Given the description of an element on the screen output the (x, y) to click on. 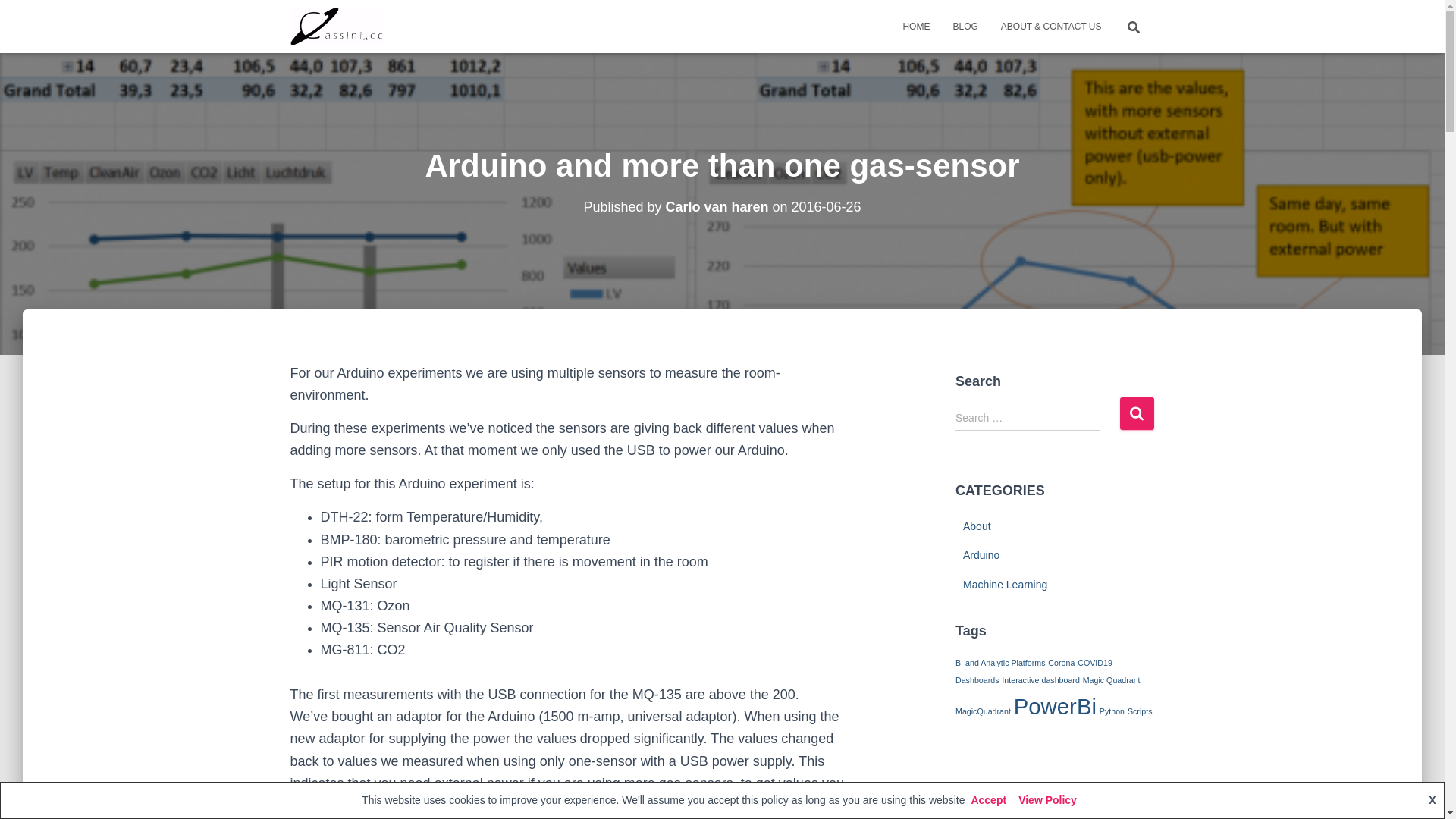
PowerBi Element type: text (1054, 705)
Dashboards Element type: text (976, 679)
ABOUT & CONTACT US Element type: text (1051, 26)
View Policy Element type: text (1047, 799)
Interactive dashboard Element type: text (1040, 679)
MagicQuadrant Element type: text (982, 710)
Search Element type: text (1136, 413)
HOME Element type: text (916, 26)
Machine Learning Element type: text (1005, 584)
BLOG Element type: text (964, 26)
About Element type: text (977, 526)
BI and Analytic Platforms Element type: text (999, 662)
Cassini Element type: hover (337, 26)
Accept Element type: text (988, 799)
Magic Quadrant Element type: text (1111, 679)
Carlo van haren Element type: text (716, 206)
Scripts Element type: text (1139, 710)
COVID19 Element type: text (1094, 662)
Corona Element type: text (1061, 662)
Arduino Element type: text (981, 555)
Python Element type: text (1111, 710)
Search Element type: text (3, 16)
